Given the description of an element on the screen output the (x, y) to click on. 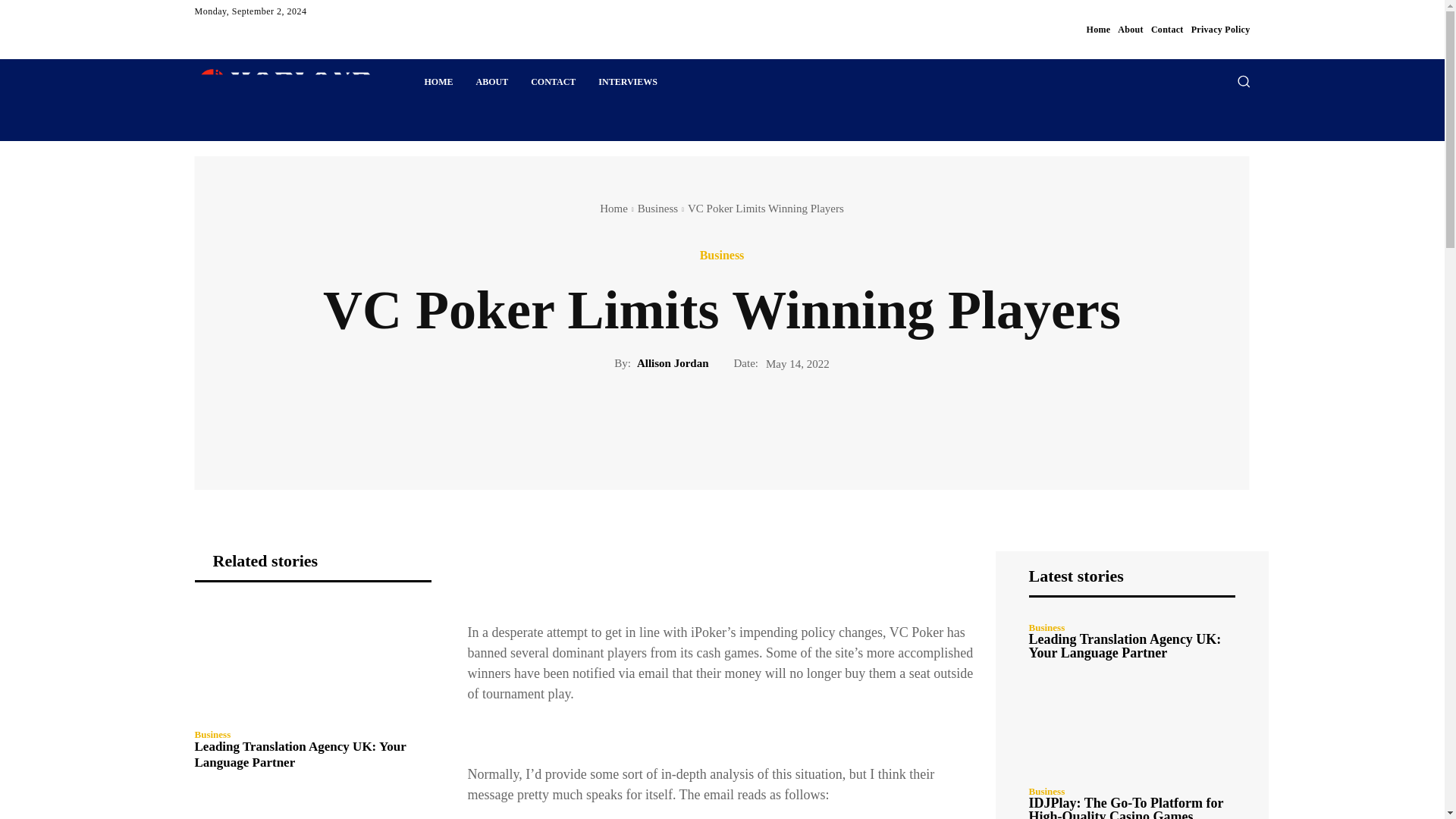
INTERVIEWS (627, 81)
Home (1097, 29)
Leading Translation Agency UK: Your Language Partner (311, 660)
Contact (1167, 29)
ABOUT (491, 81)
HOME (438, 81)
Business (657, 208)
About (1130, 29)
View all posts in Business (657, 208)
Leading Translation Agency UK: Your Language Partner (299, 754)
